Given the description of an element on the screen output the (x, y) to click on. 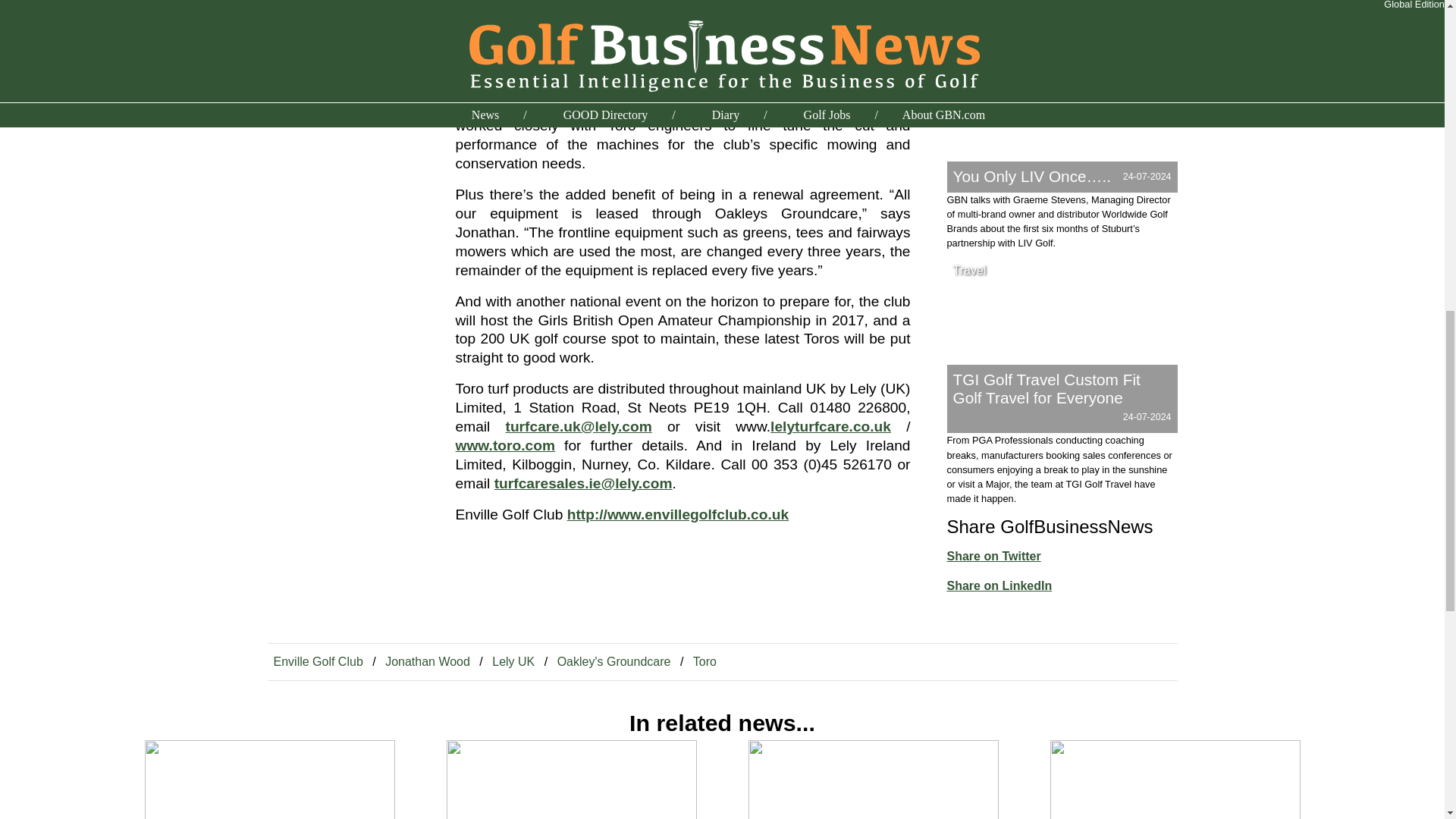
Toro (704, 661)
Share on LinkedIn (998, 585)
Share on Twitter (993, 555)
www.toro.com (504, 445)
lelyturfcare.co.uk (830, 426)
Oakley's Groundcare (614, 661)
Interviews (979, 29)
Lely UK (513, 661)
Travel (968, 269)
Jonathan Wood (427, 661)
Enville Golf Club (317, 661)
